Given the description of an element on the screen output the (x, y) to click on. 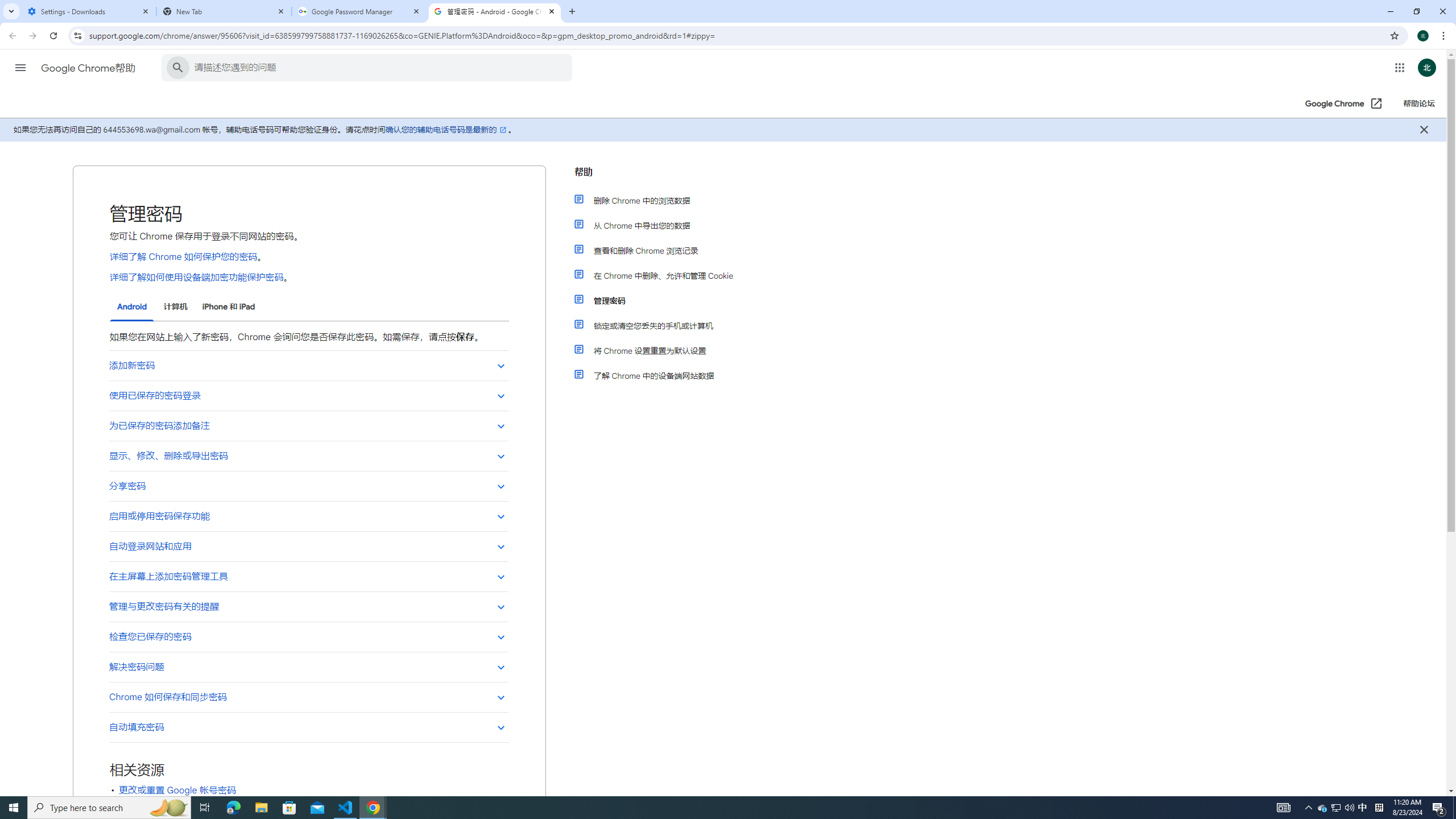
Settings - Downloads (88, 11)
Google Password Manager (359, 11)
